Given the description of an element on the screen output the (x, y) to click on. 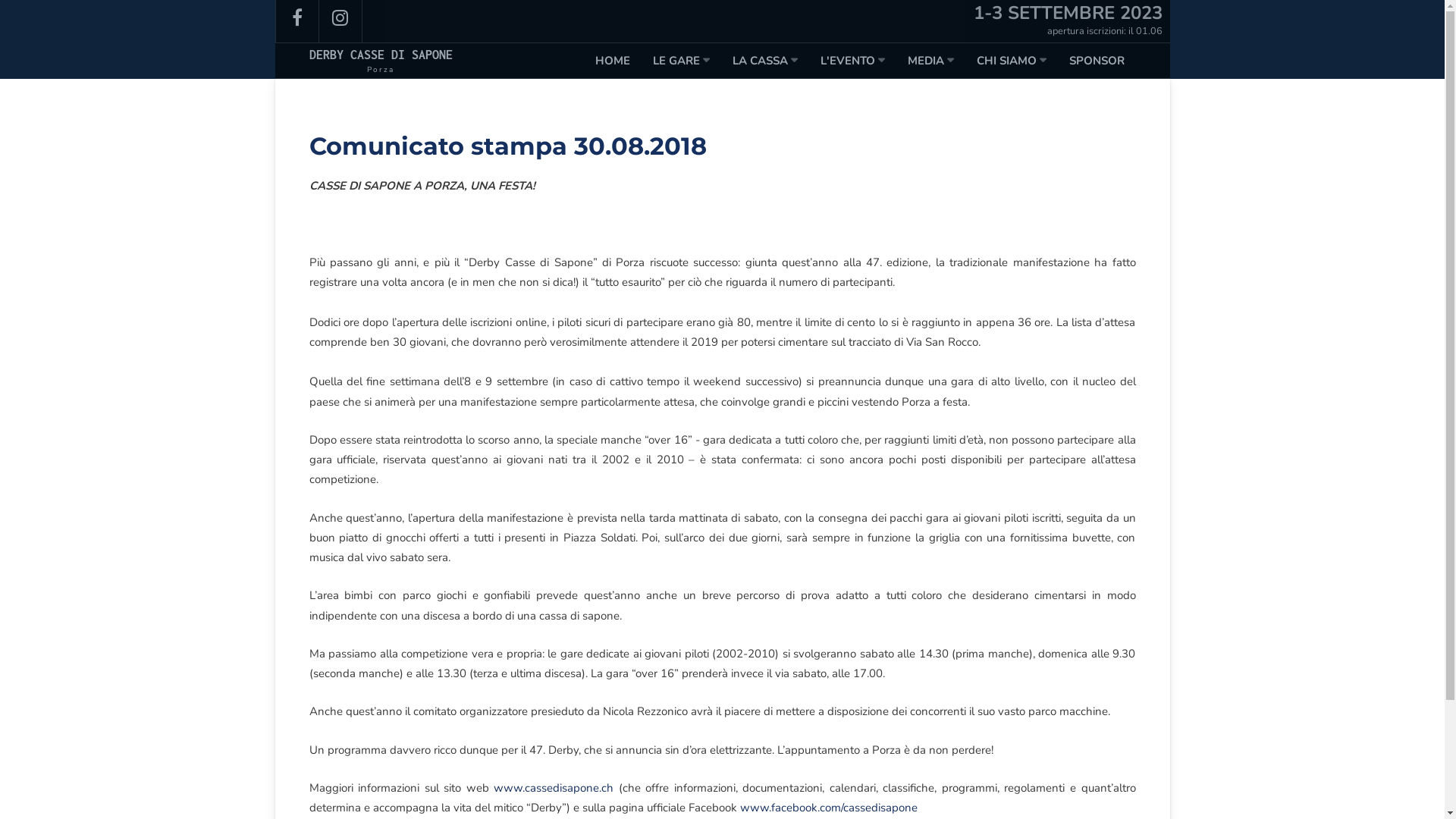
www.facebook.com/cassedisapone Element type: text (828, 807)
SPONSOR Element type: text (1096, 60)
MEDIA Element type: text (929, 60)
LE GARE Element type: text (680, 60)
DERBY CASSE DI SAPONE Element type: text (380, 54)
LA CASSA Element type: text (764, 60)
CHI SIAMO Element type: text (1011, 60)
Facebook Element type: text (297, 21)
www.cassedisapone.ch Element type: text (553, 787)
L'EVENTO Element type: text (852, 60)
HOME Element type: text (611, 60)
Instagram Element type: text (339, 21)
